Given the description of an element on the screen output the (x, y) to click on. 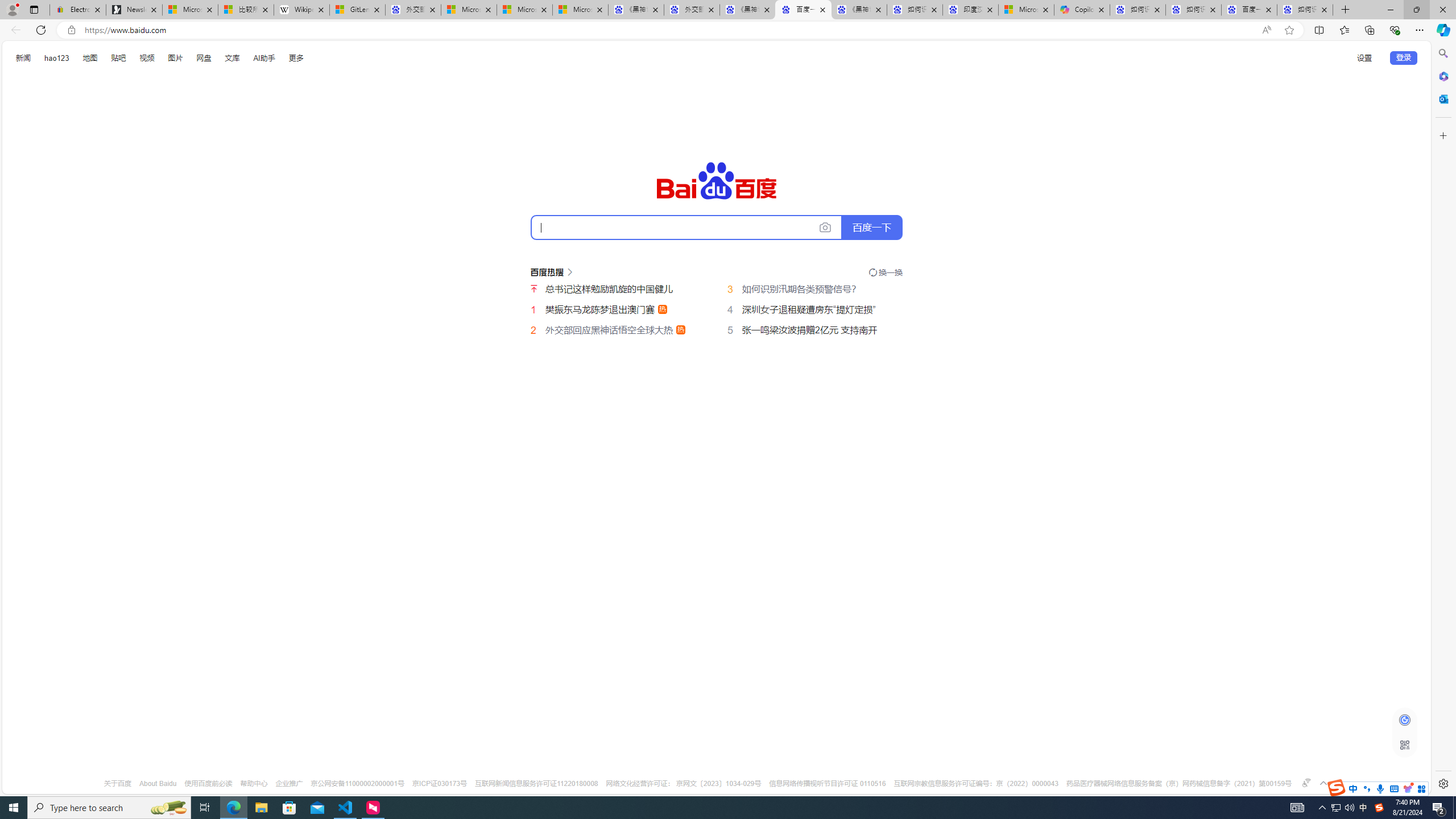
Newsletter Sign Up (134, 9)
